Given the description of an element on the screen output the (x, y) to click on. 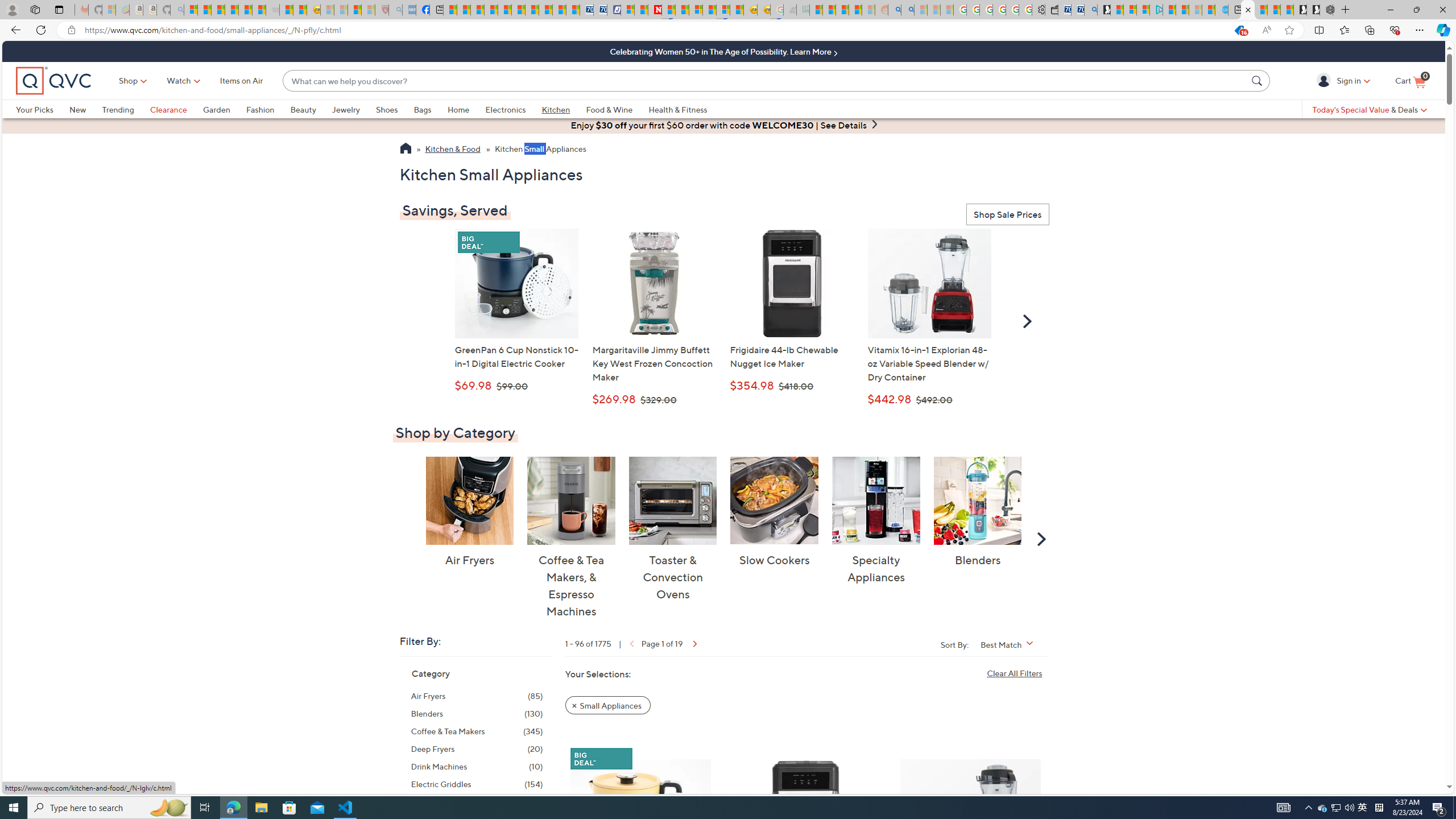
This site has coupons! Shopping in Microsoft Edge, 16 (1239, 29)
Trending (125, 109)
Kitchen & Food (452, 149)
Jewelry (345, 109)
Clearance (168, 109)
Electronics (504, 109)
Toaster & Convection Ovens Toaster & Convection Ovens (672, 529)
Health & Fitness (677, 109)
QVC home (53, 80)
